Given the description of an element on the screen output the (x, y) to click on. 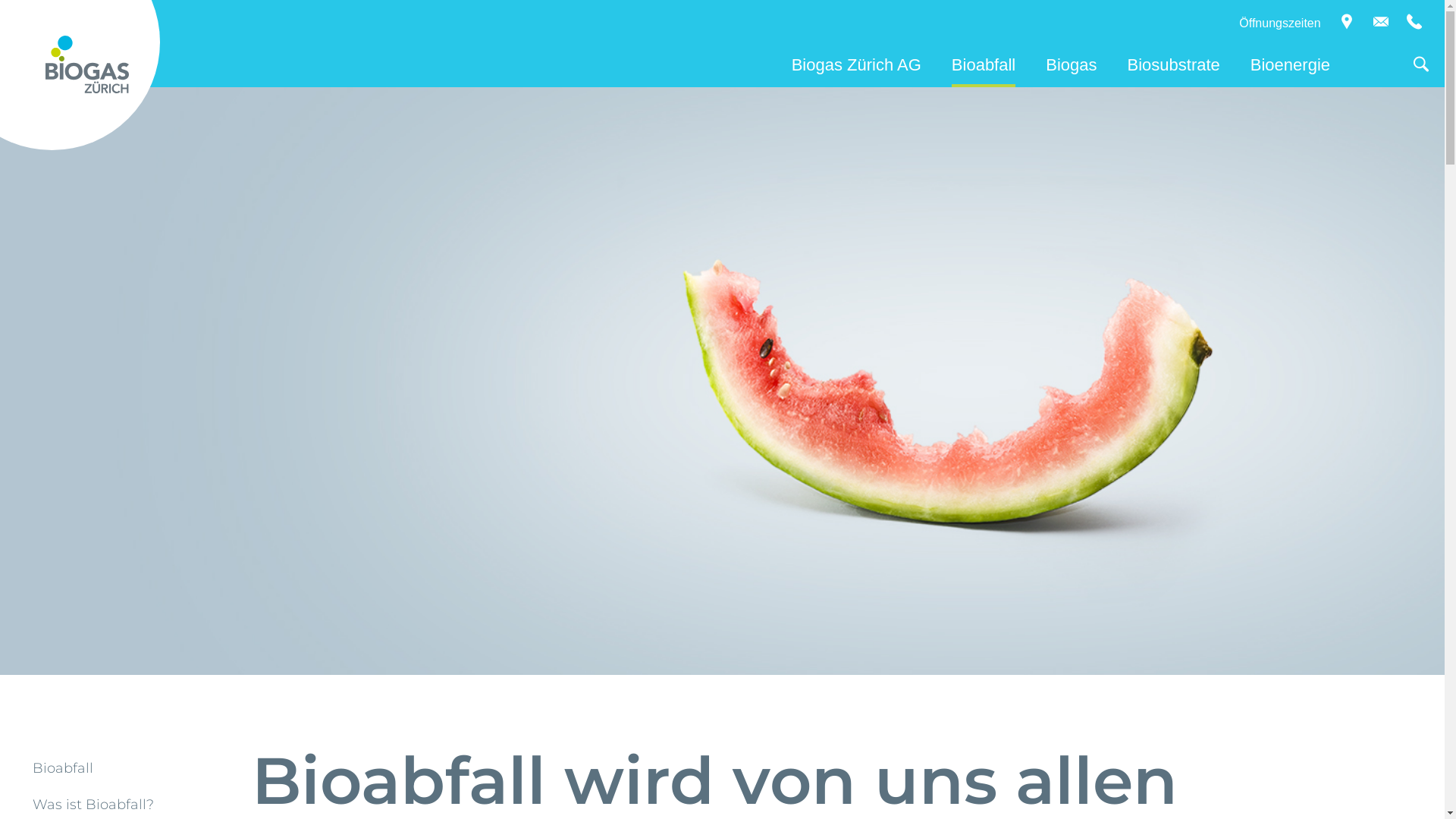
Biogas Element type: text (1070, 66)
Bioabfall Element type: text (62, 767)
Bioenergie Element type: text (1290, 66)
Bioabfall Element type: text (983, 66)
Biosubstrate Element type: text (1173, 66)
Was ist Bioabfall? Element type: text (93, 804)
